Given the description of an element on the screen output the (x, y) to click on. 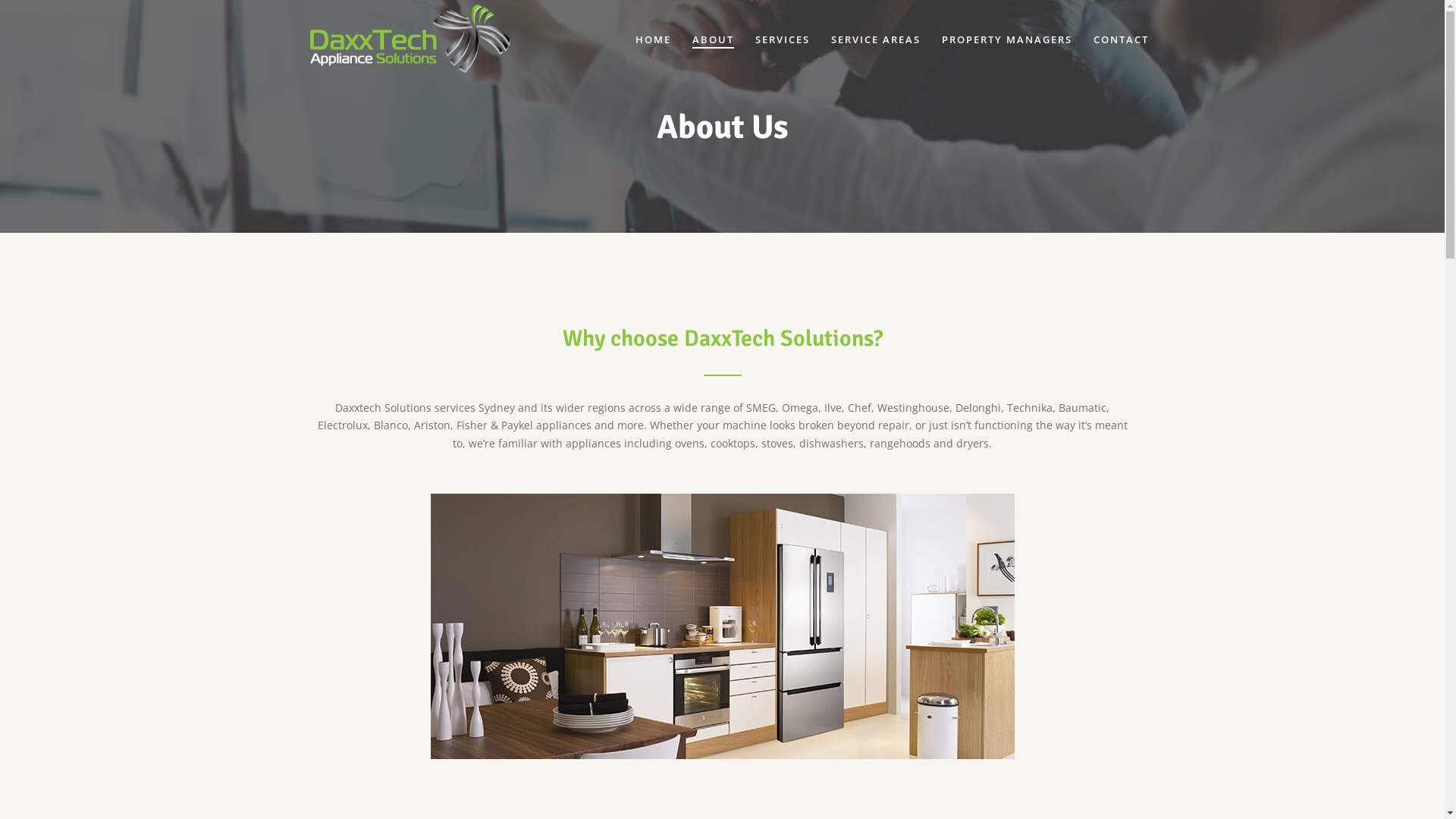
PROPERTY MANAGERS Element type: text (1006, 39)
SERVICE AREAS Element type: text (875, 39)
Service & Repair Sydney Element type: hover (409, 38)
CONTACT Element type: text (1120, 39)
SERVICES Element type: text (782, 39)
HOME Element type: text (652, 39)
ABOUT Element type: text (711, 39)
